Given the description of an element on the screen output the (x, y) to click on. 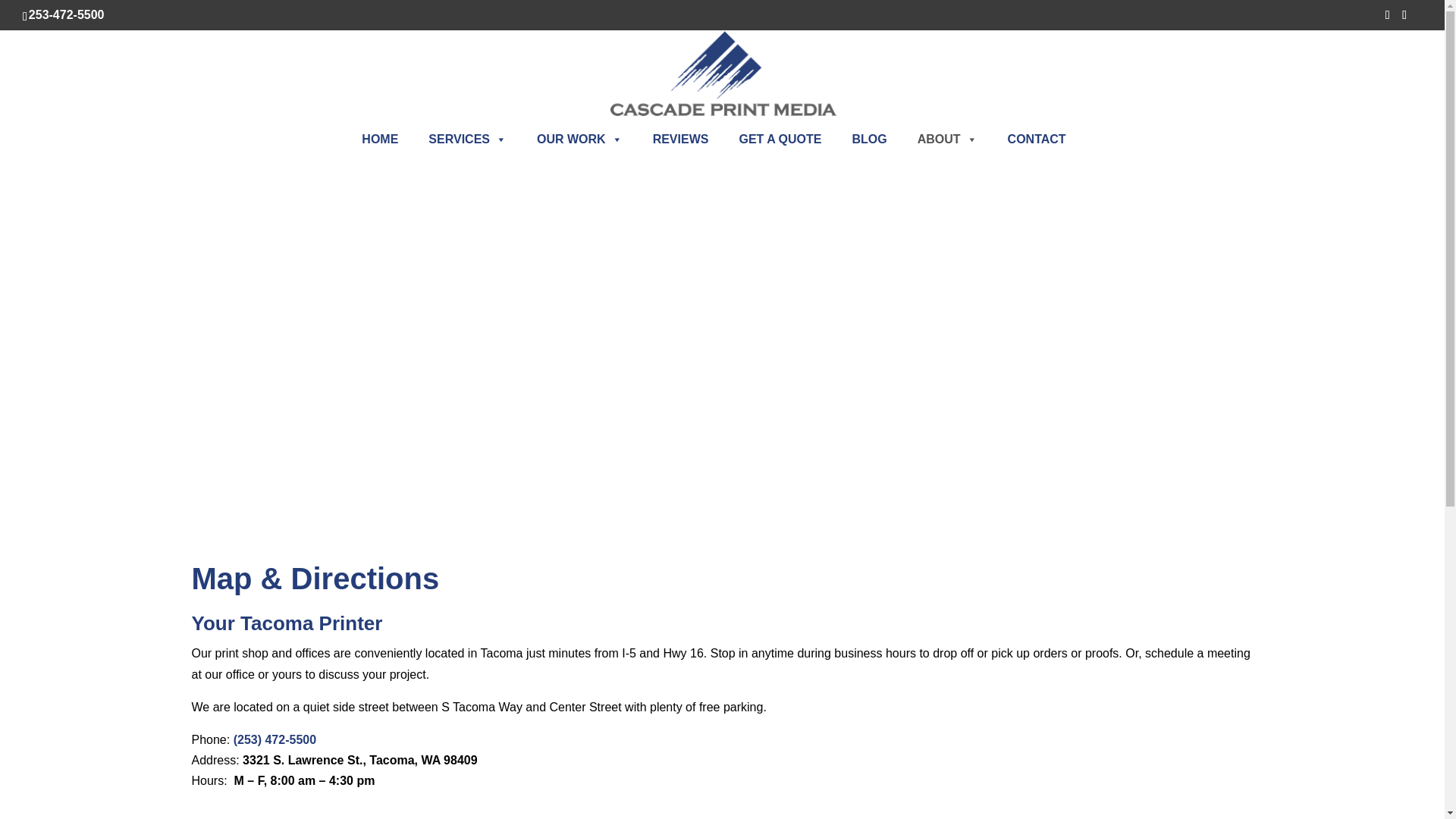
HOME (379, 139)
CONTACT (1037, 139)
OUR WORK (579, 139)
GET A QUOTE (779, 139)
ABOUT (947, 139)
SERVICES (466, 139)
253-472-5500 (68, 14)
REVIEWS (680, 139)
BLOG (868, 139)
